Given the description of an element on the screen output the (x, y) to click on. 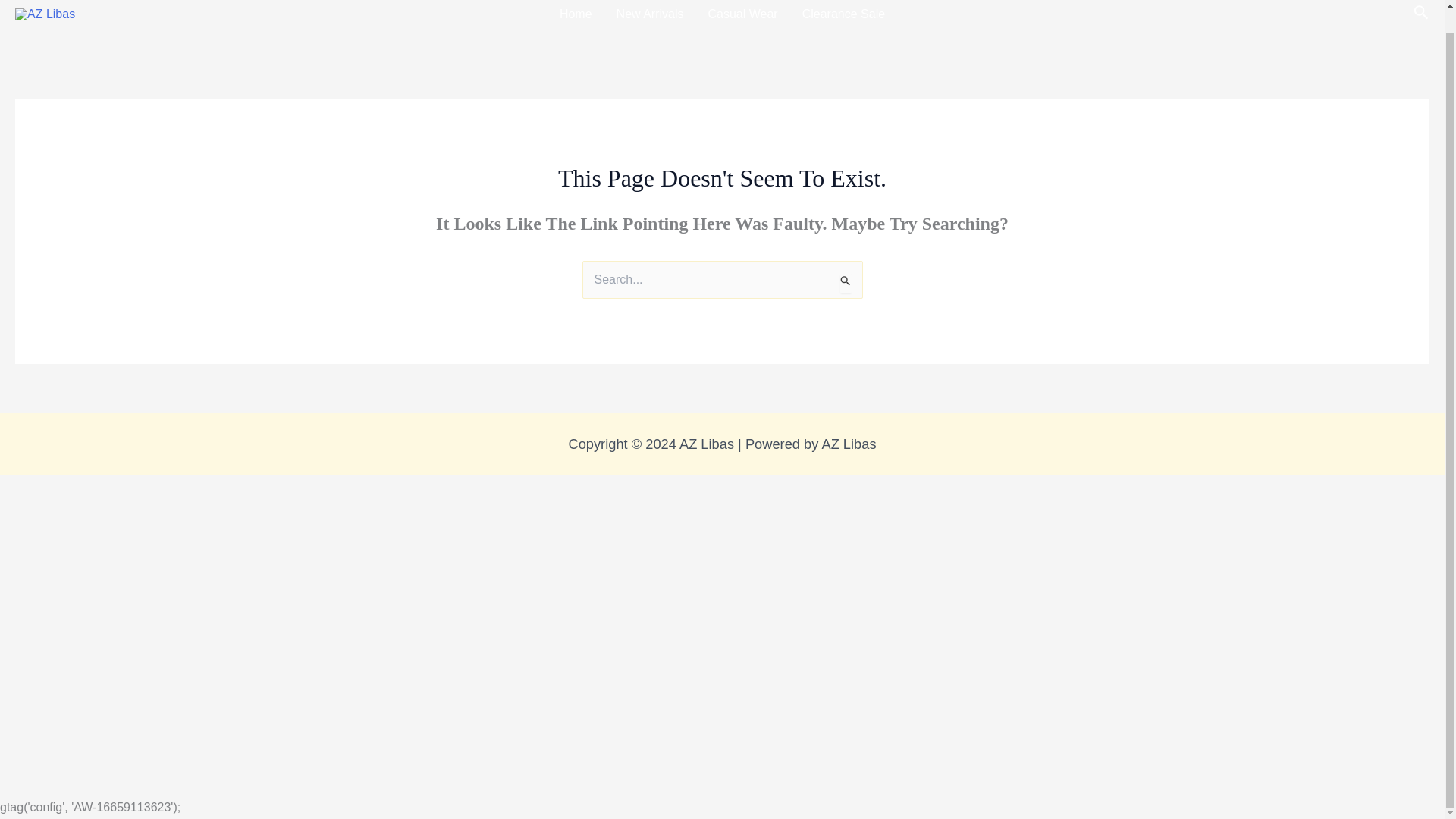
New Arrivals (649, 25)
Home (575, 25)
Search (844, 279)
Casual Wear (742, 25)
Search (844, 279)
Search (844, 279)
Clearance Sale (843, 25)
